Given the description of an element on the screen output the (x, y) to click on. 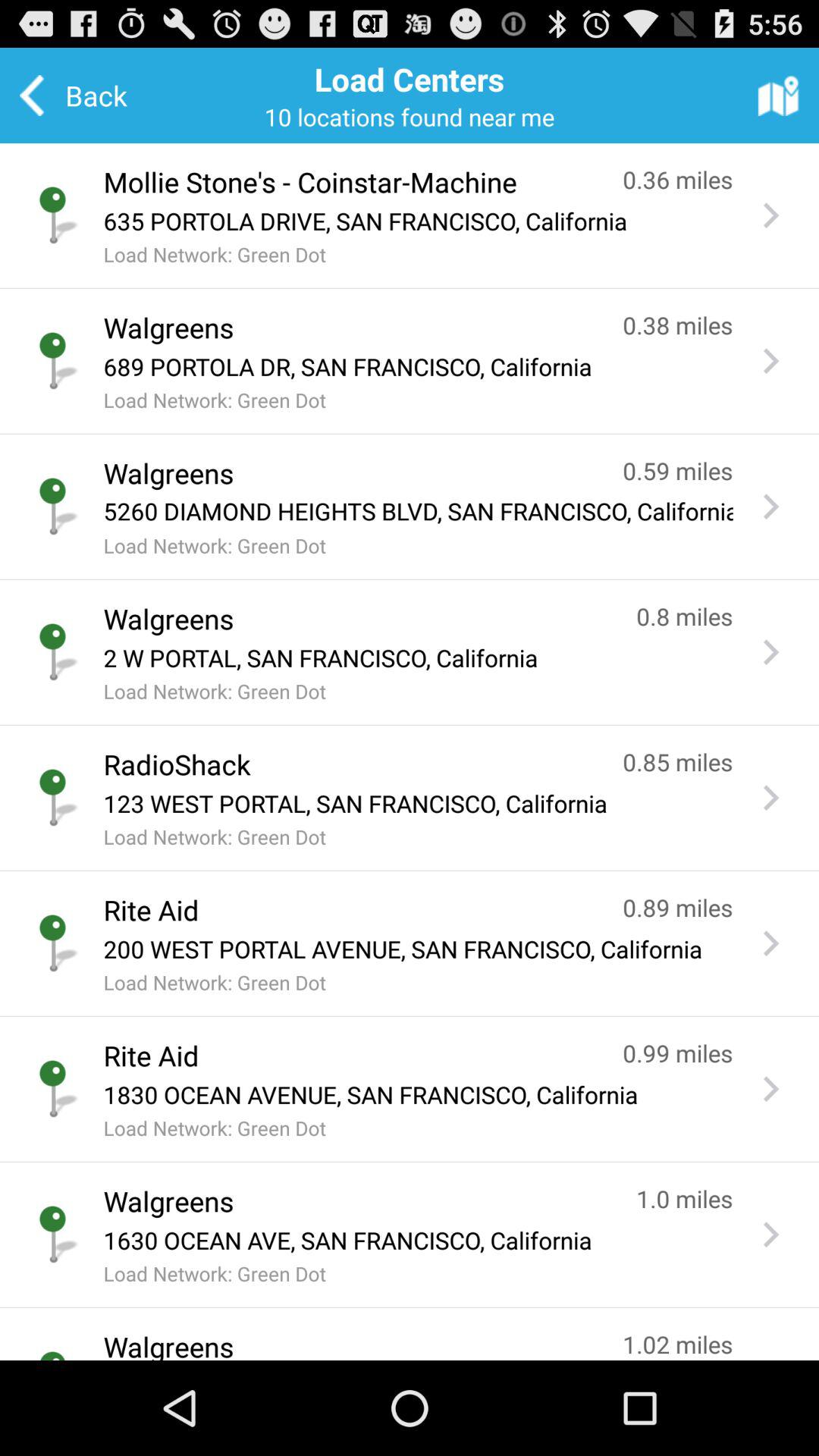
press the app above the load network green icon (418, 657)
